Given the description of an element on the screen output the (x, y) to click on. 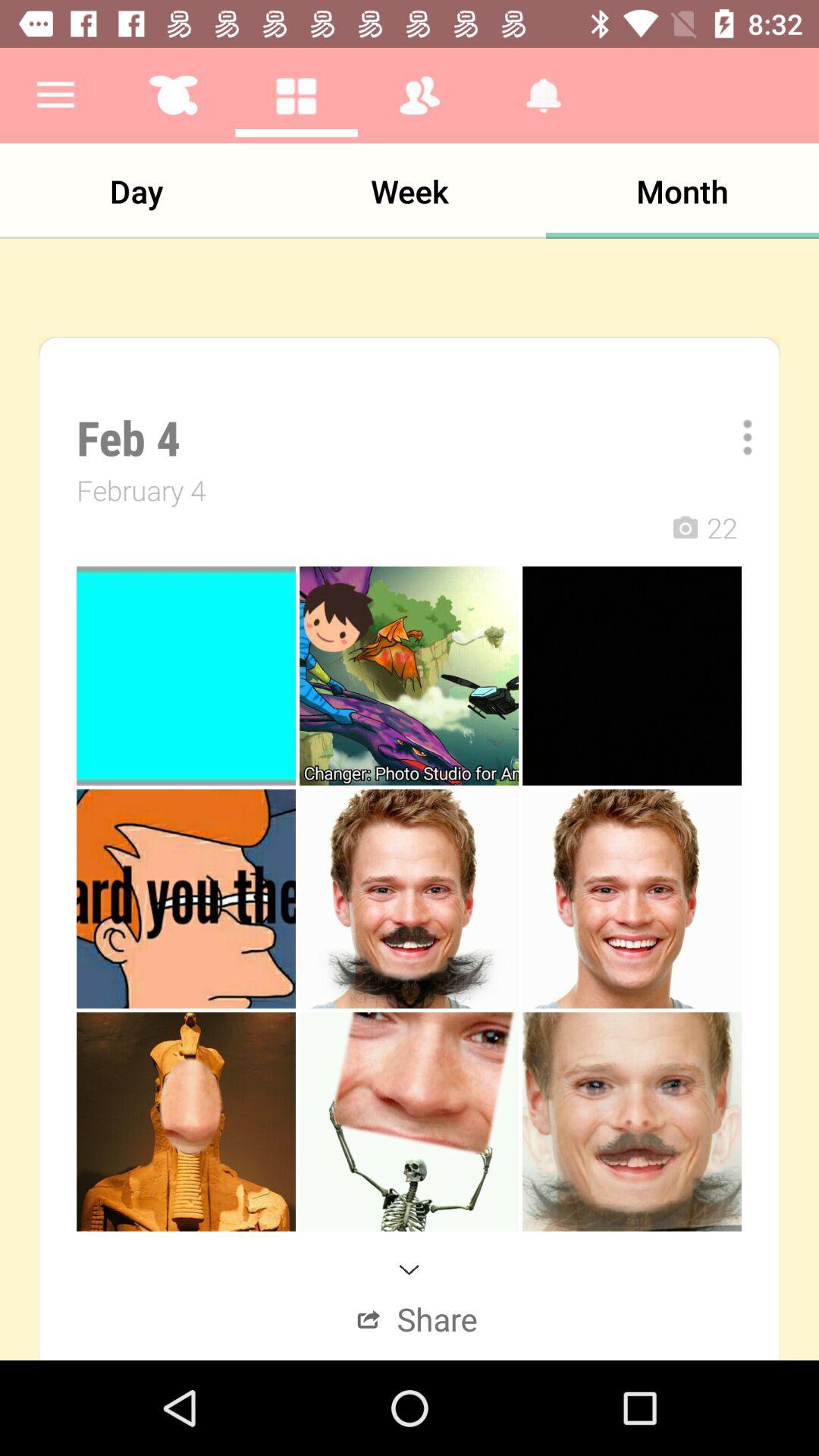
launch the app above the day (55, 95)
